Given the description of an element on the screen output the (x, y) to click on. 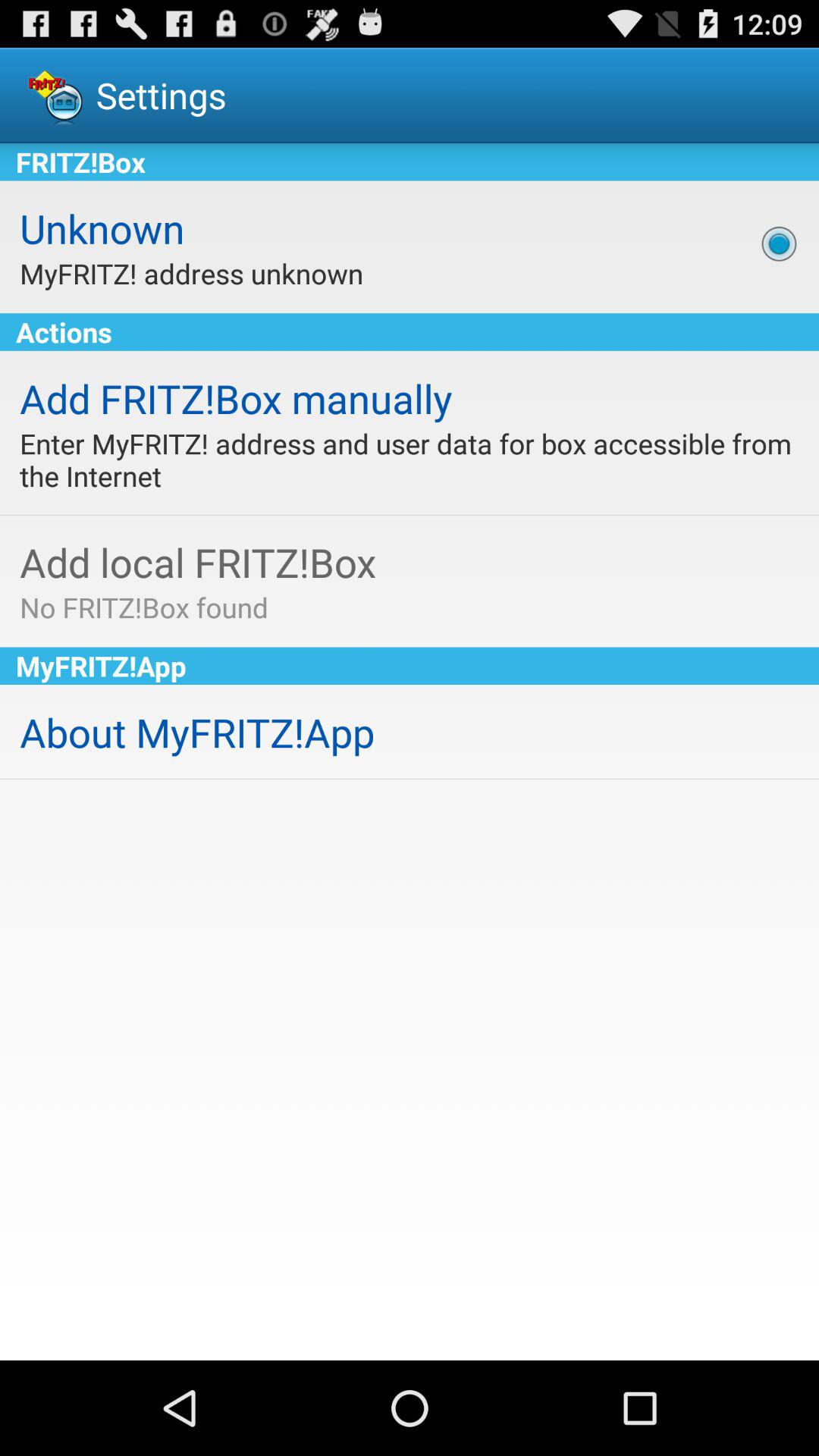
turn on app below fritz!box item (779, 243)
